Given the description of an element on the screen output the (x, y) to click on. 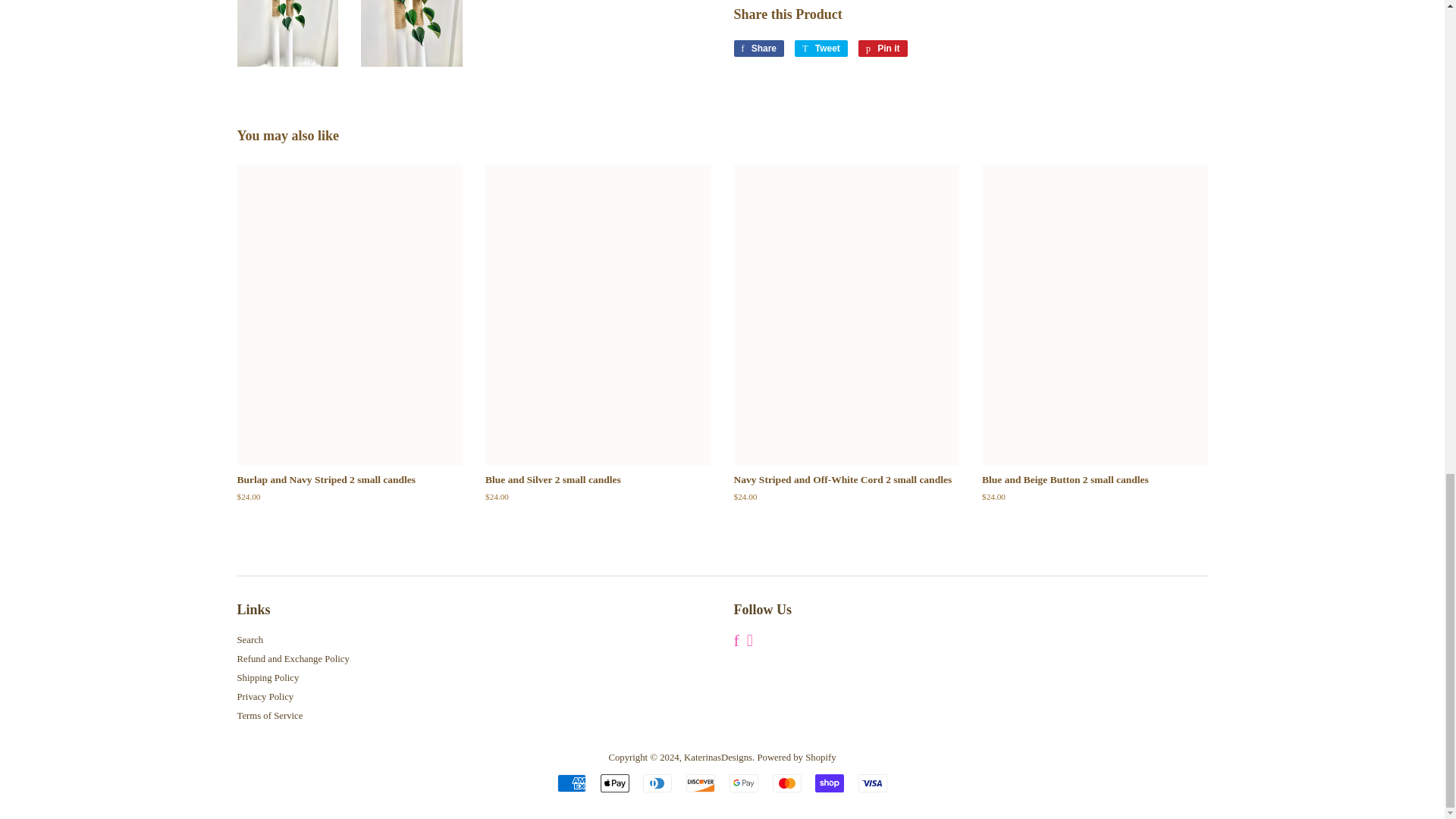
American Express (571, 782)
Google Pay (743, 782)
Discover (699, 782)
Visa (872, 782)
Mastercard (787, 782)
Shop Pay (829, 782)
Diners Club (657, 782)
Apple Pay (613, 782)
Tweet on Twitter (820, 48)
Pin on Pinterest (883, 48)
Share on Facebook (758, 48)
